Given the description of an element on the screen output the (x, y) to click on. 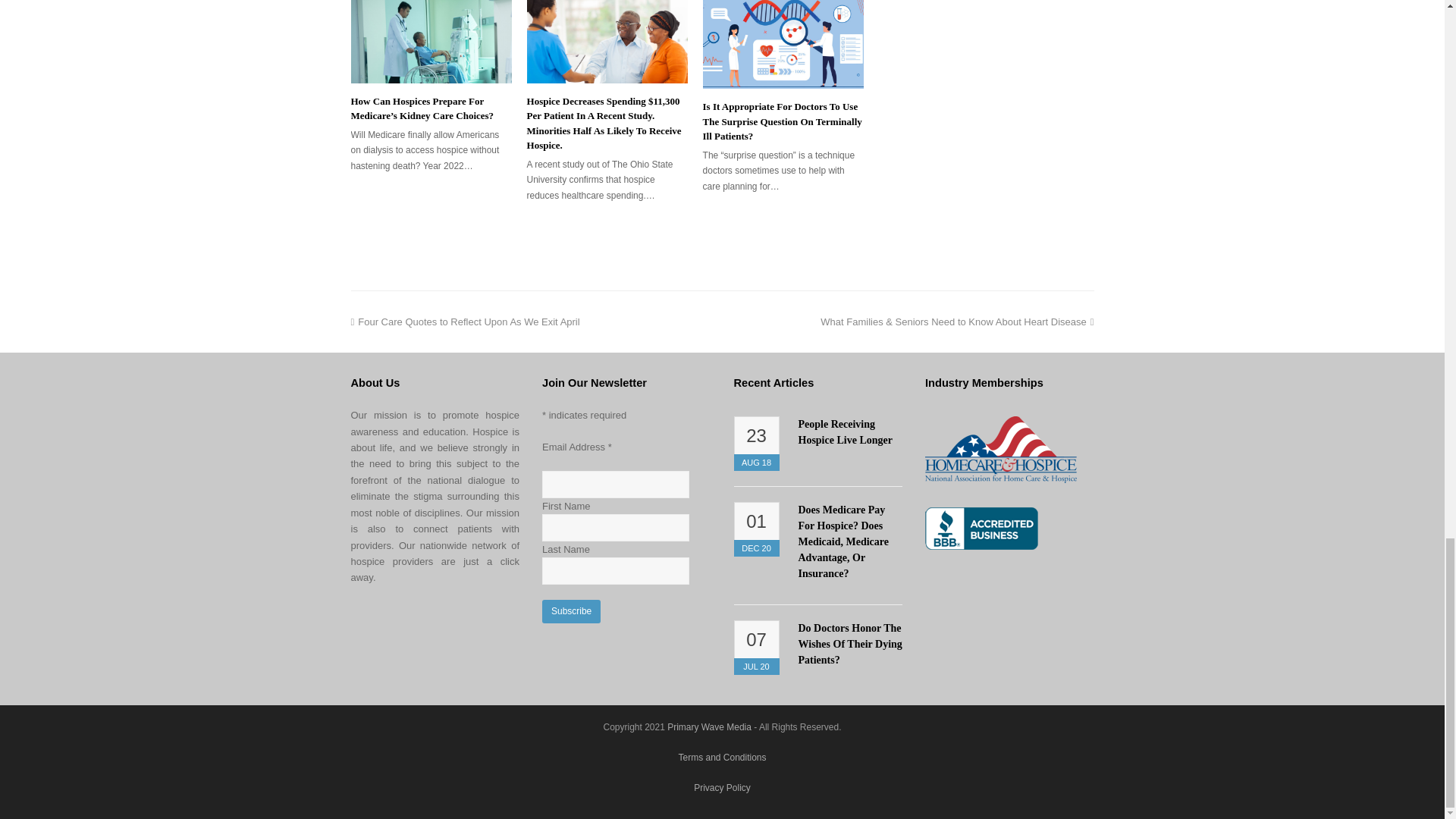
Subscribe (570, 611)
